Given the description of an element on the screen output the (x, y) to click on. 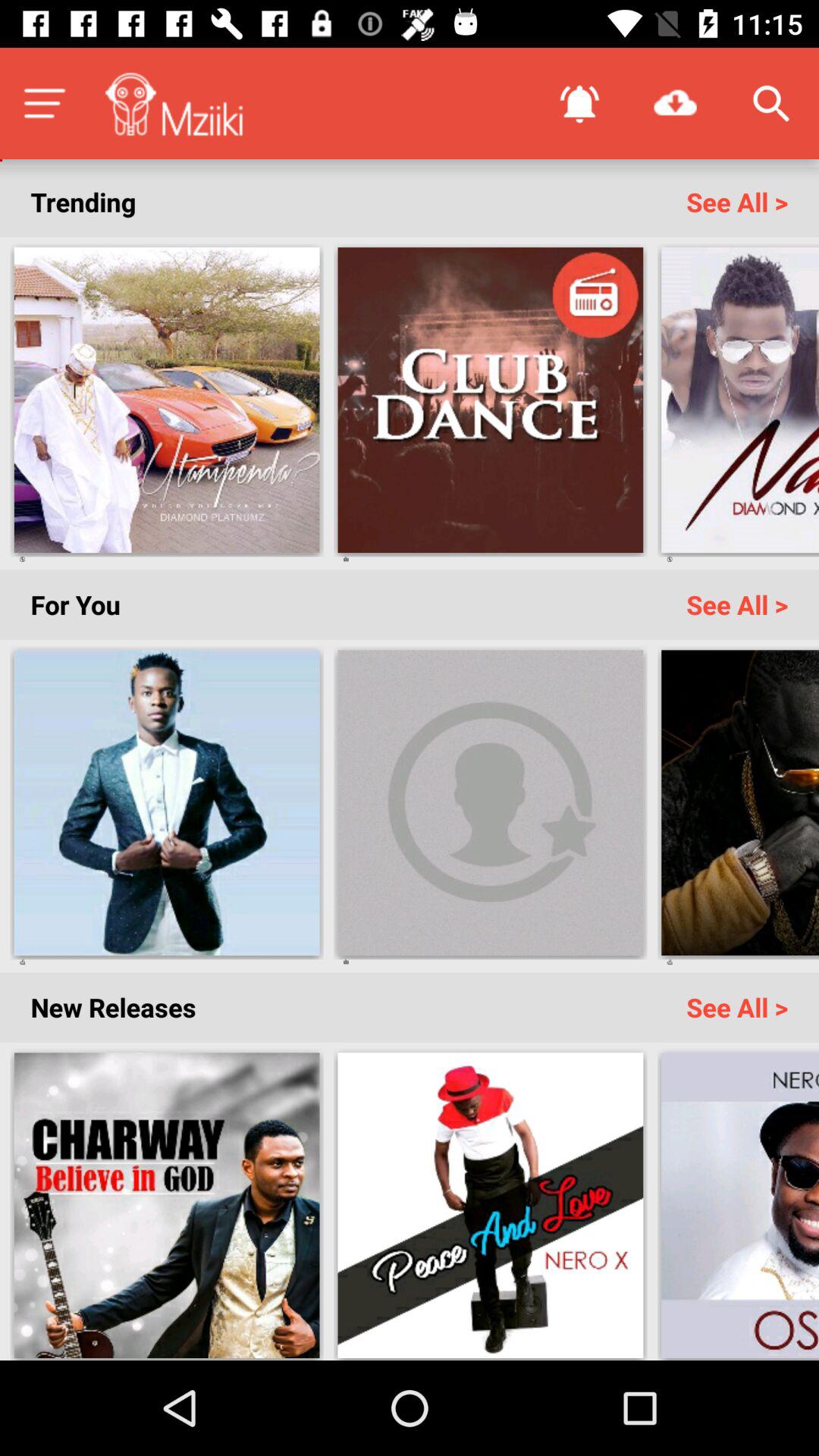
select the icon above the see all > icon (771, 103)
